Given the description of an element on the screen output the (x, y) to click on. 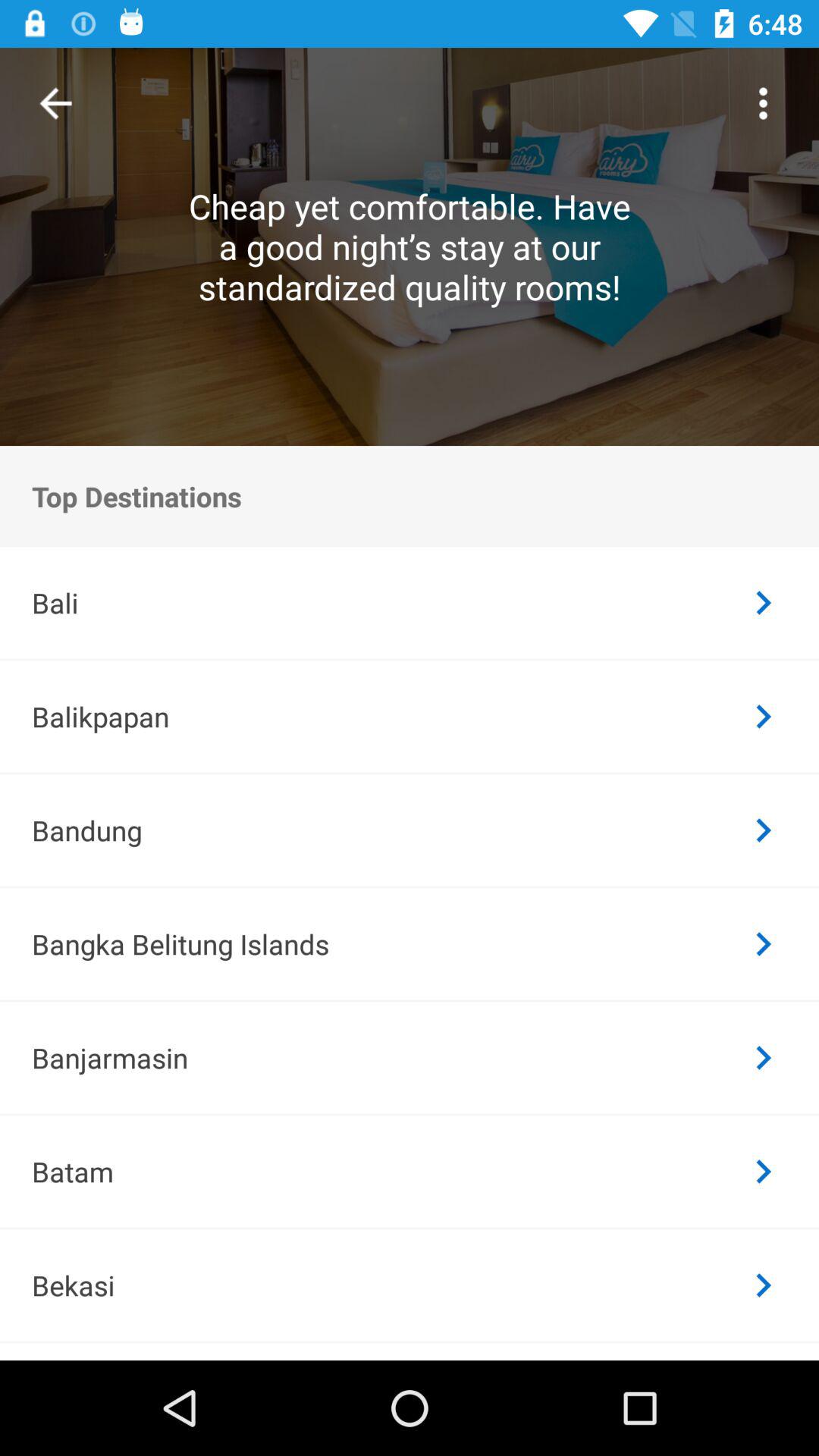
menu options (763, 103)
